Given the description of an element on the screen output the (x, y) to click on. 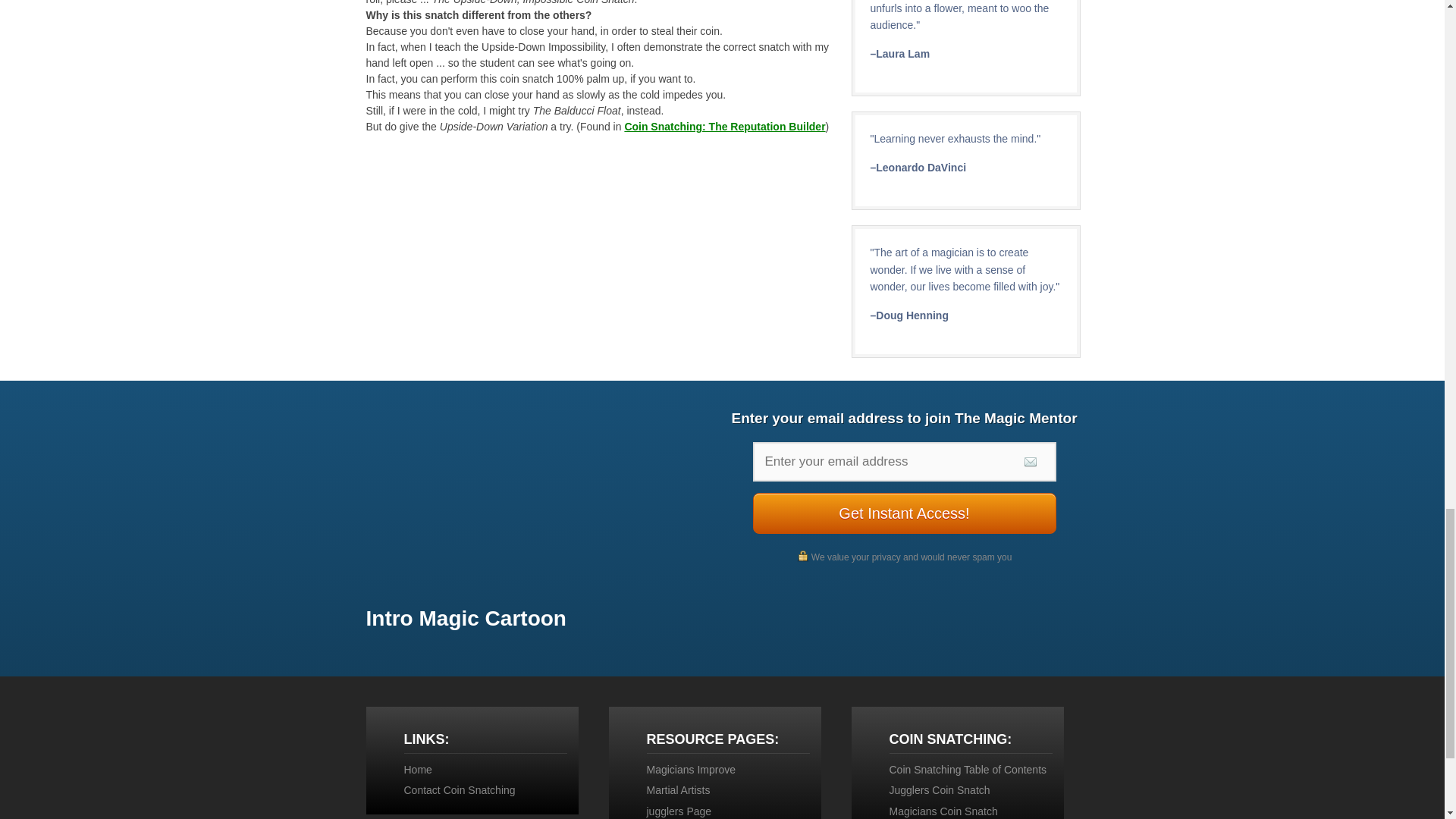
Martial Artists (678, 789)
Home (416, 769)
Get Instant Access! (903, 513)
Jugglers Coin Snatch (939, 789)
Coin Snatching Table of Contents (967, 769)
Coin Snatching: The Reputation Builder (724, 126)
Magicians Coin Snatch (942, 811)
jugglers Page (678, 811)
Contact Coin Snatching (459, 789)
Magicians Improve (690, 769)
